Given the description of an element on the screen output the (x, y) to click on. 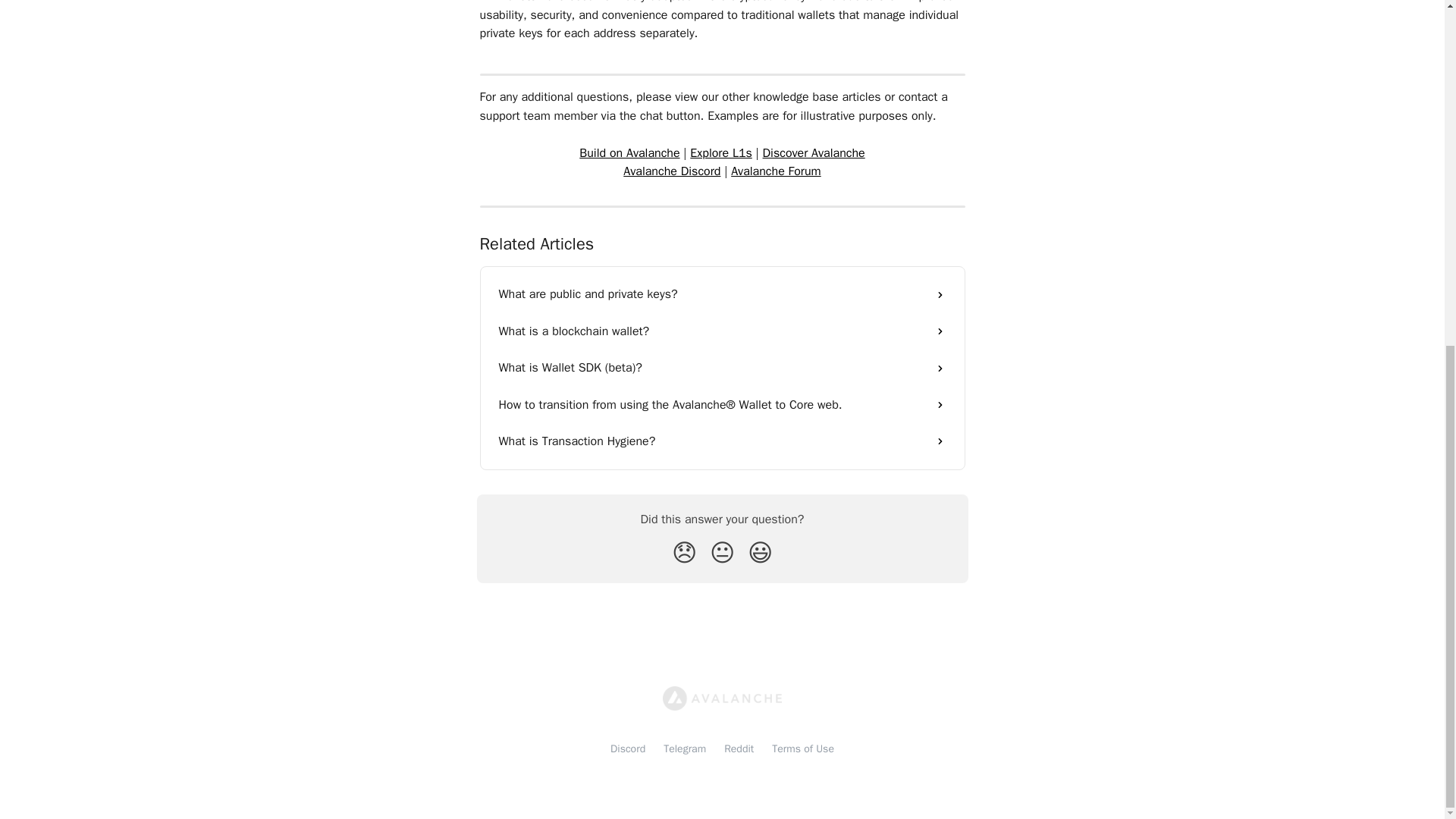
Discover Avalanche (813, 152)
Avalanche Forum (775, 171)
Build on Avalanche (629, 152)
Reddit (738, 748)
What is Transaction Hygiene? (722, 441)
What are public and private keys? (722, 294)
Terms of Use (802, 748)
Telegram (684, 748)
Explore L1s (721, 152)
Discord (627, 748)
Avalanche Discord (671, 171)
What is a blockchain wallet? (722, 330)
